Given the description of an element on the screen output the (x, y) to click on. 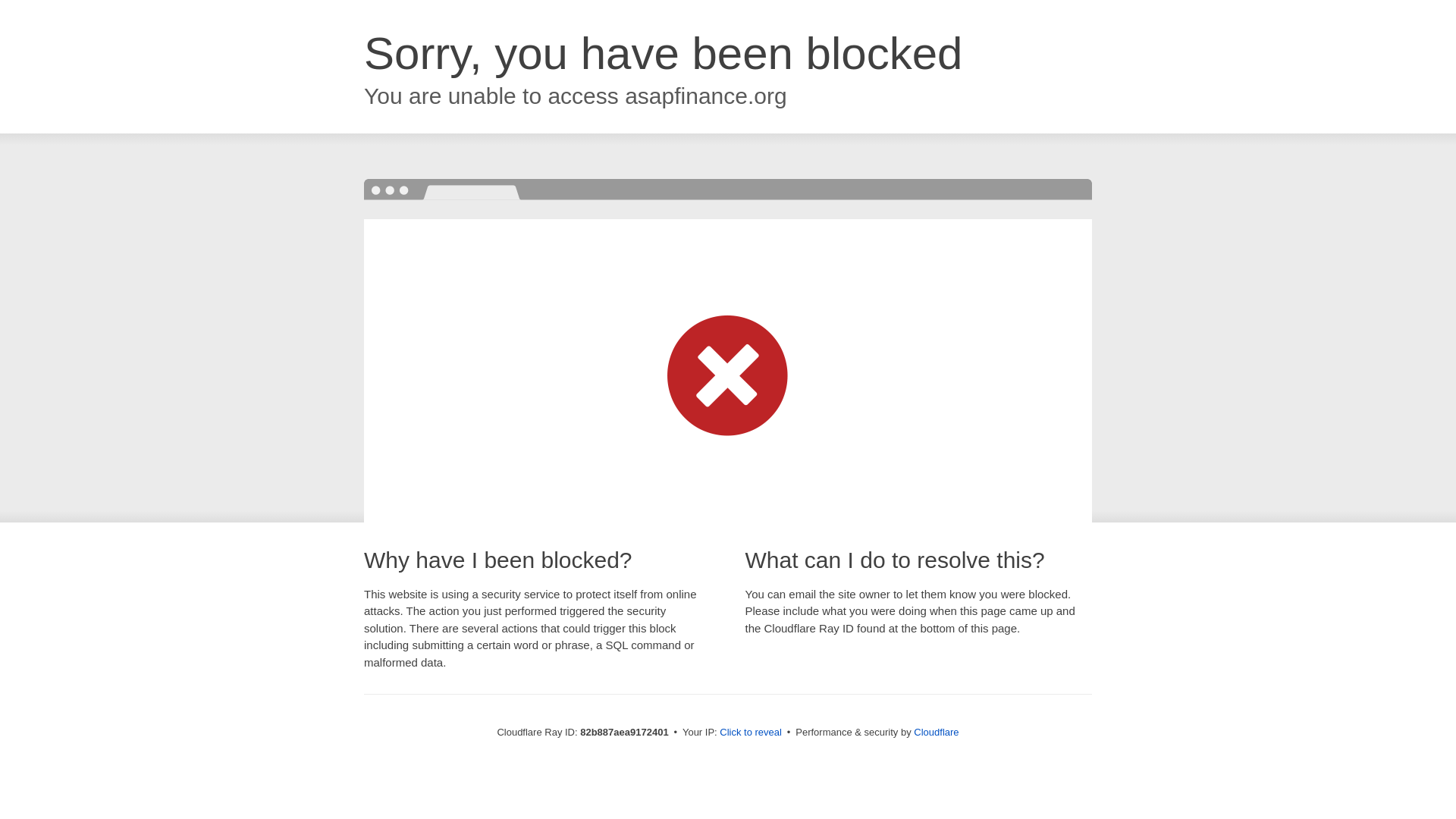
Cloudflare Element type: text (935, 731)
Click to reveal Element type: text (750, 732)
